Given the description of an element on the screen output the (x, y) to click on. 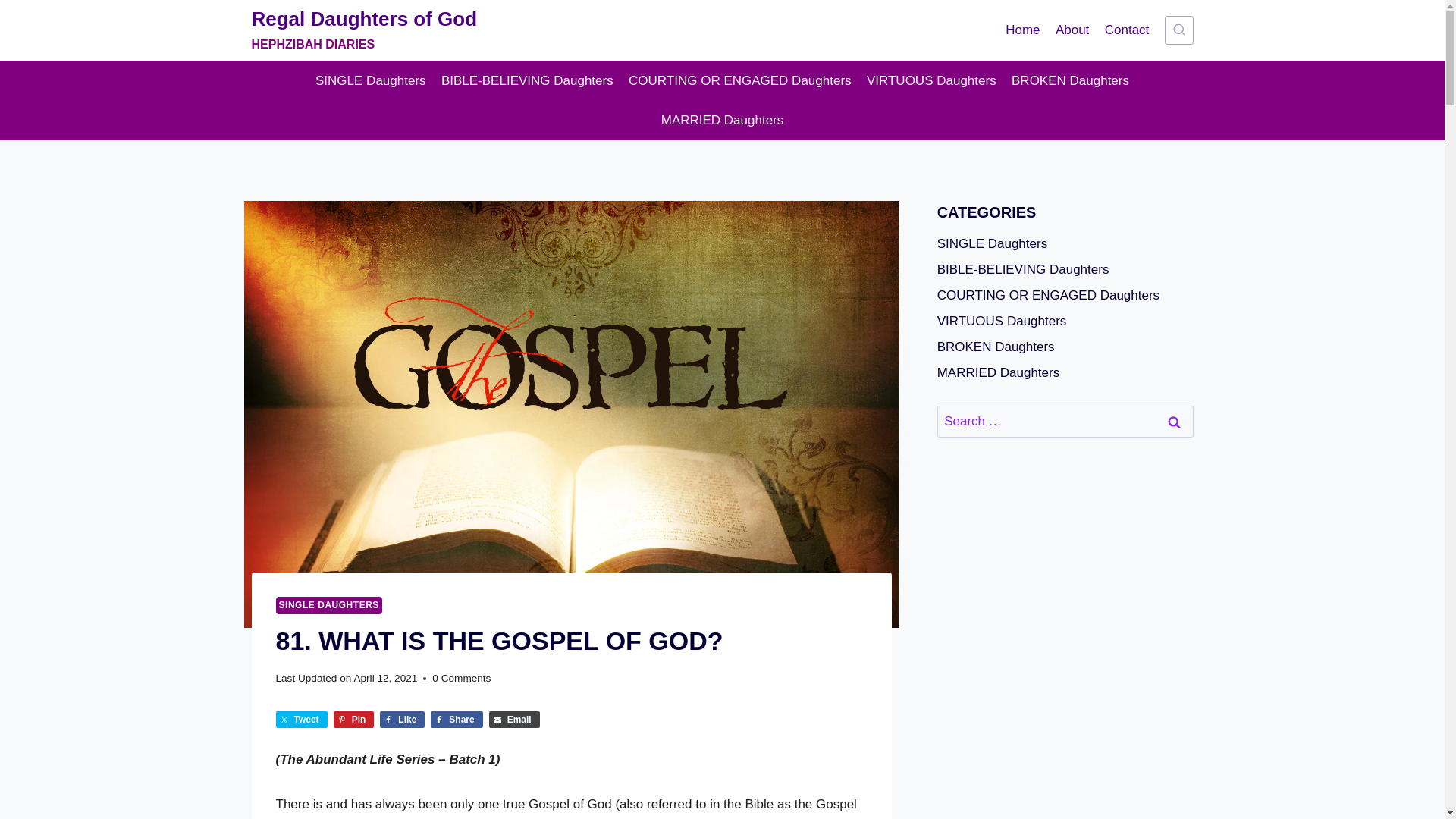
Share (455, 719)
Tweet (301, 719)
Share on Twitter (301, 719)
VIRTUOUS Daughters (931, 80)
SINGLE Daughters (370, 80)
Search (1174, 421)
0 Comments (461, 678)
MARRIED Daughters (722, 120)
Share via Email (514, 719)
About (1072, 30)
BIBLE-BELIEVING Daughters (527, 80)
Like on Facebook (402, 719)
COURTING OR ENGAGED Daughters (740, 80)
Search (1174, 421)
Share on Facebook (455, 719)
